Given the description of an element on the screen output the (x, y) to click on. 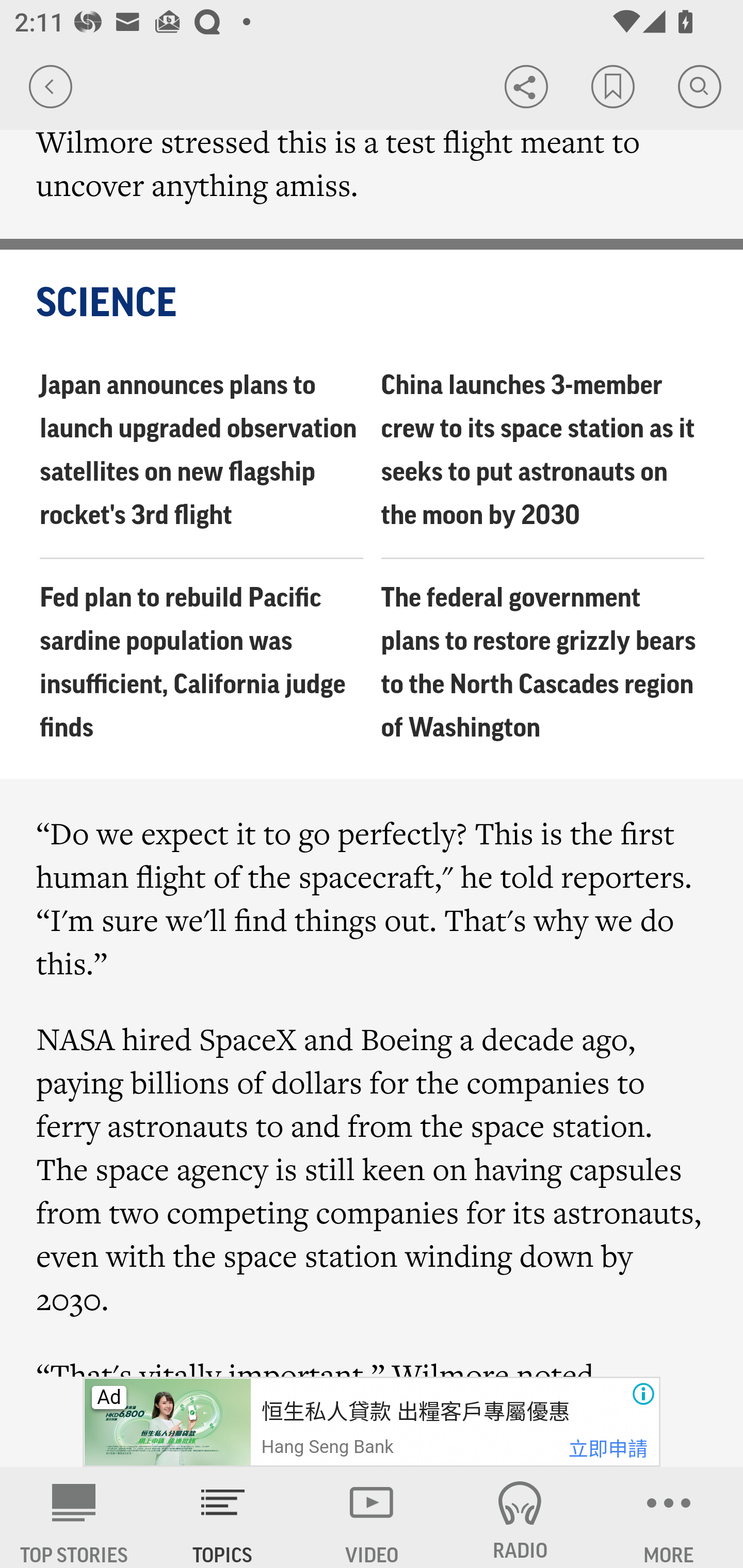
SCIENCE (372, 303)
恒生私人貸款 出糧客戶專屬優惠 (414, 1411)
Hang Seng Bank (326, 1447)
立即申請 (607, 1449)
AP News TOP STORIES (74, 1517)
TOPICS (222, 1517)
VIDEO (371, 1517)
RADIO (519, 1517)
MORE (668, 1517)
